Given the description of an element on the screen output the (x, y) to click on. 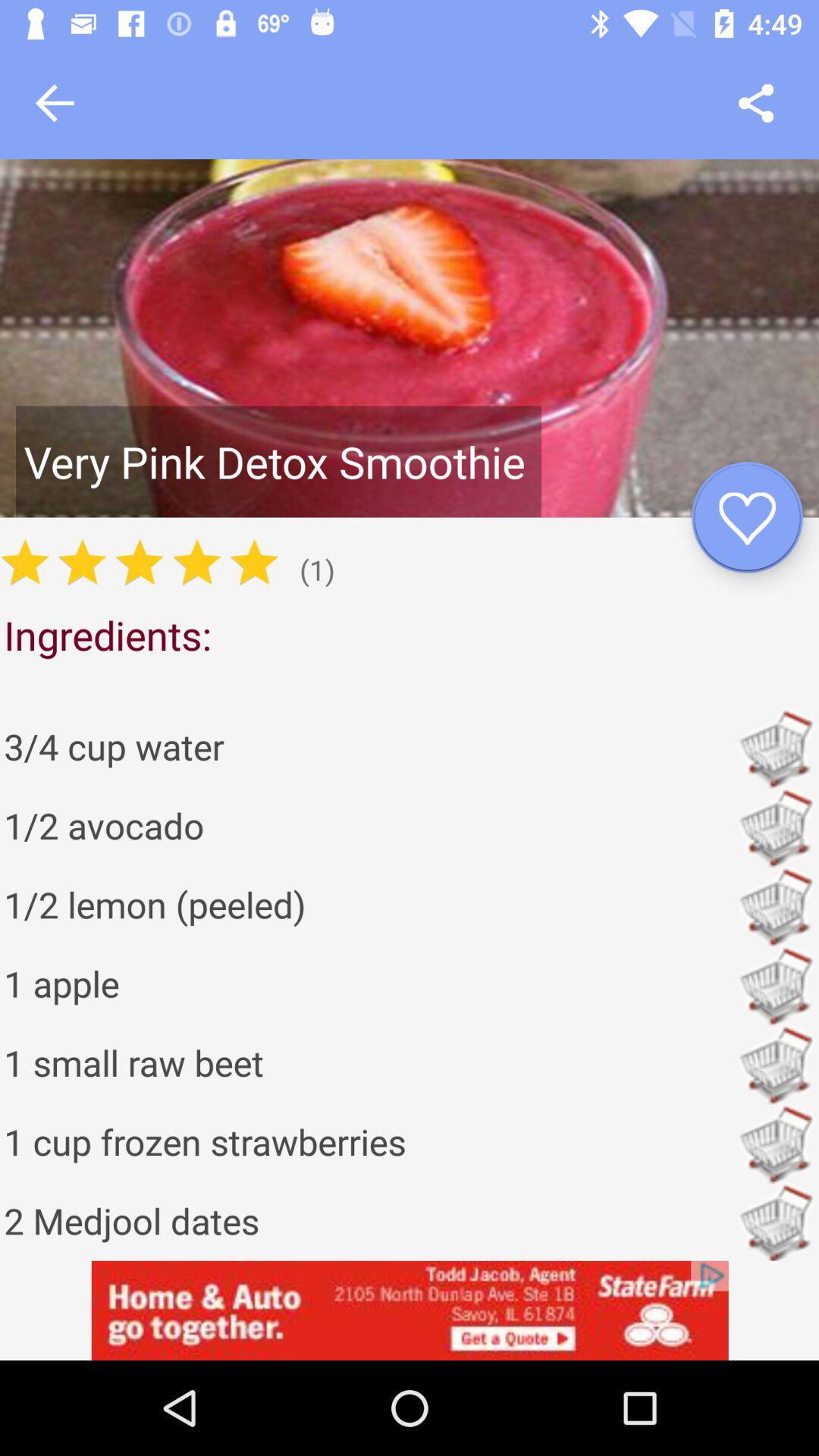
favorite (747, 517)
